Given the description of an element on the screen output the (x, y) to click on. 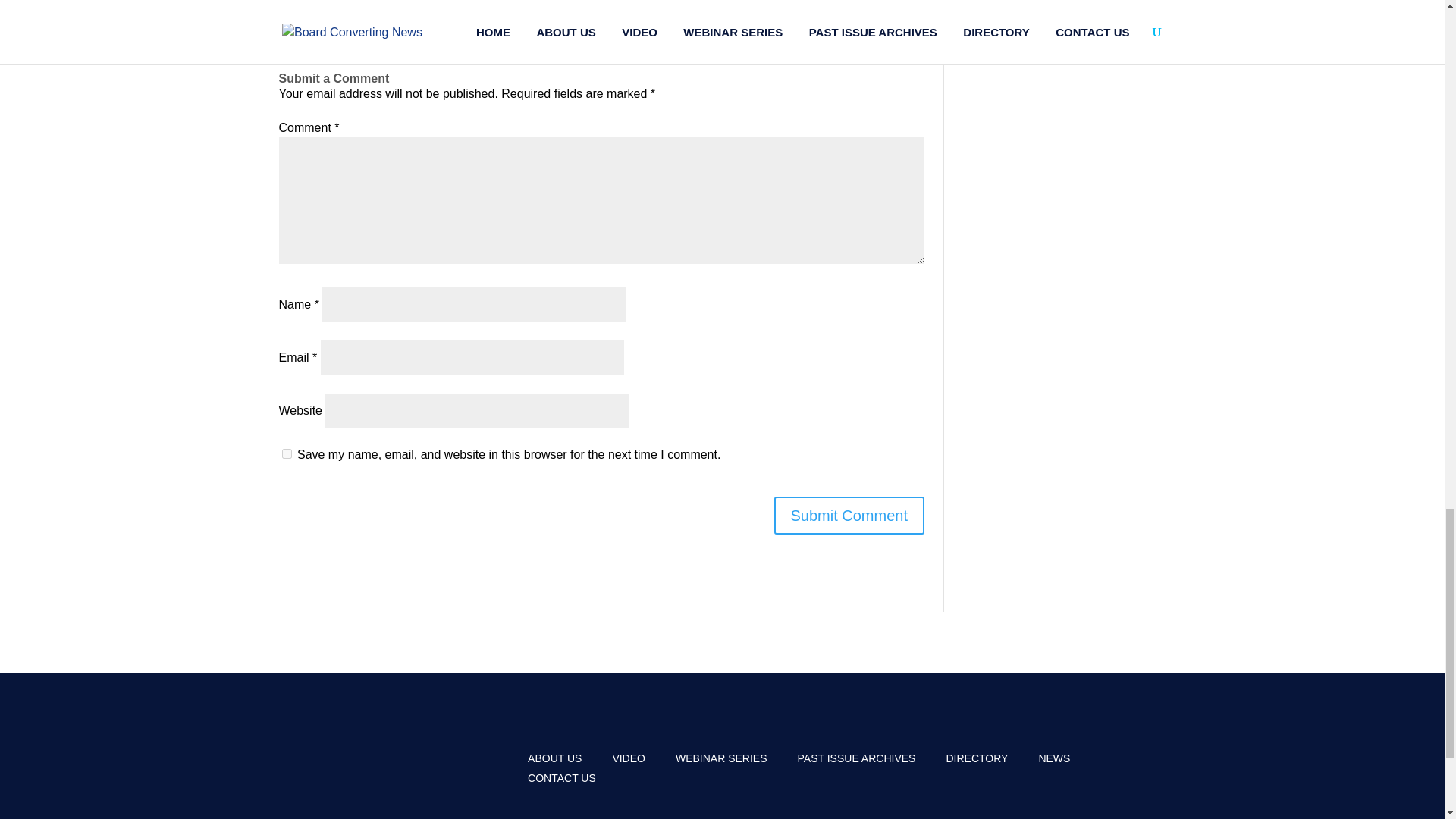
WEBINAR SERIES (721, 758)
yes (287, 453)
NEWS (1054, 758)
Submit Comment (848, 515)
DIRECTORY (975, 758)
Submit Comment (848, 515)
PAST ISSUE ARCHIVES (856, 758)
ABOUT US (553, 758)
VIDEO (628, 758)
CONTACT US (561, 777)
